Given the description of an element on the screen output the (x, y) to click on. 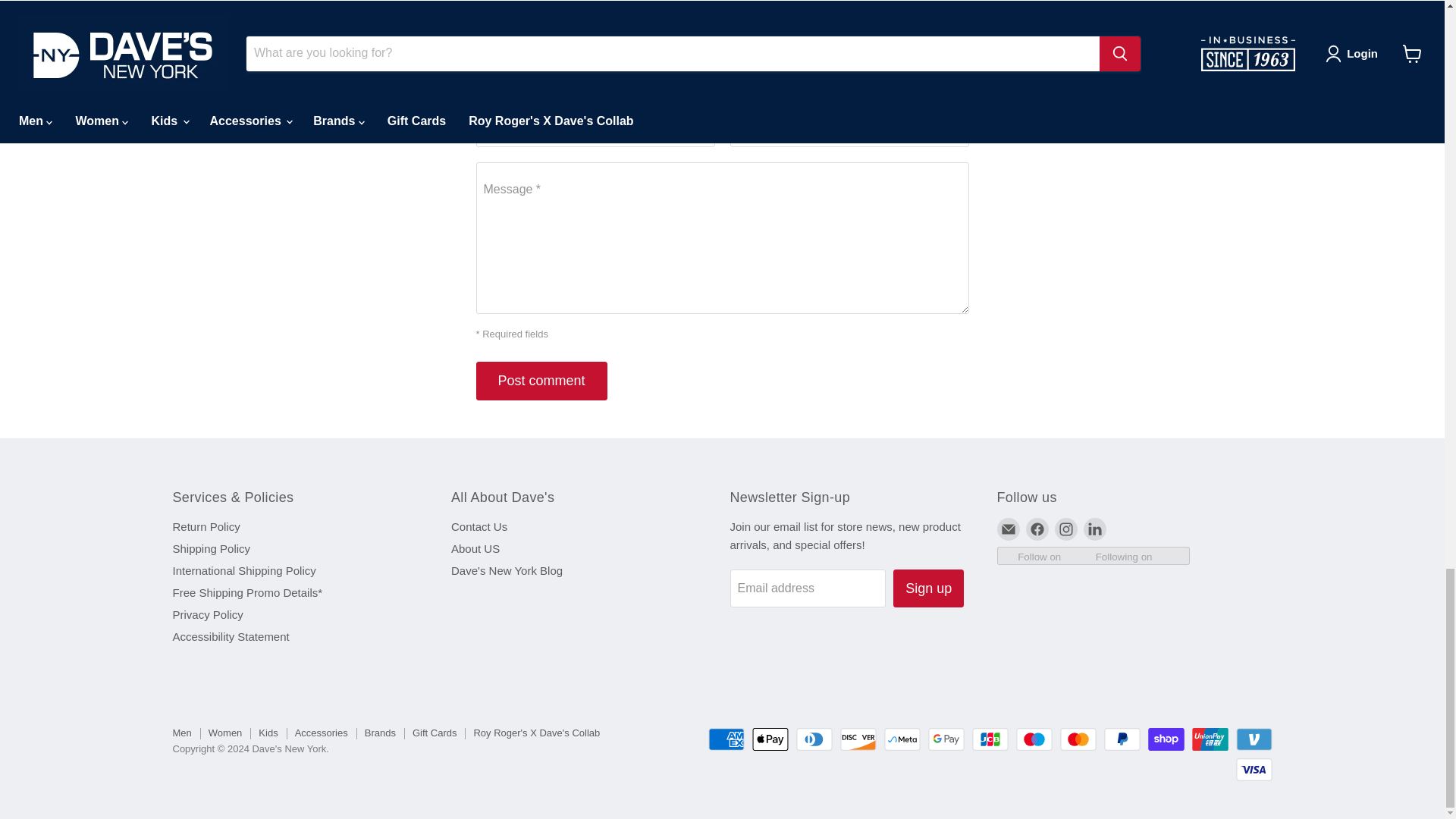
American Express (725, 739)
Email (1007, 528)
LinkedIn (1094, 528)
Apple Pay (770, 739)
Diners Club (814, 739)
Instagram (1065, 528)
Facebook (1036, 528)
Discover (858, 739)
